Given the description of an element on the screen output the (x, y) to click on. 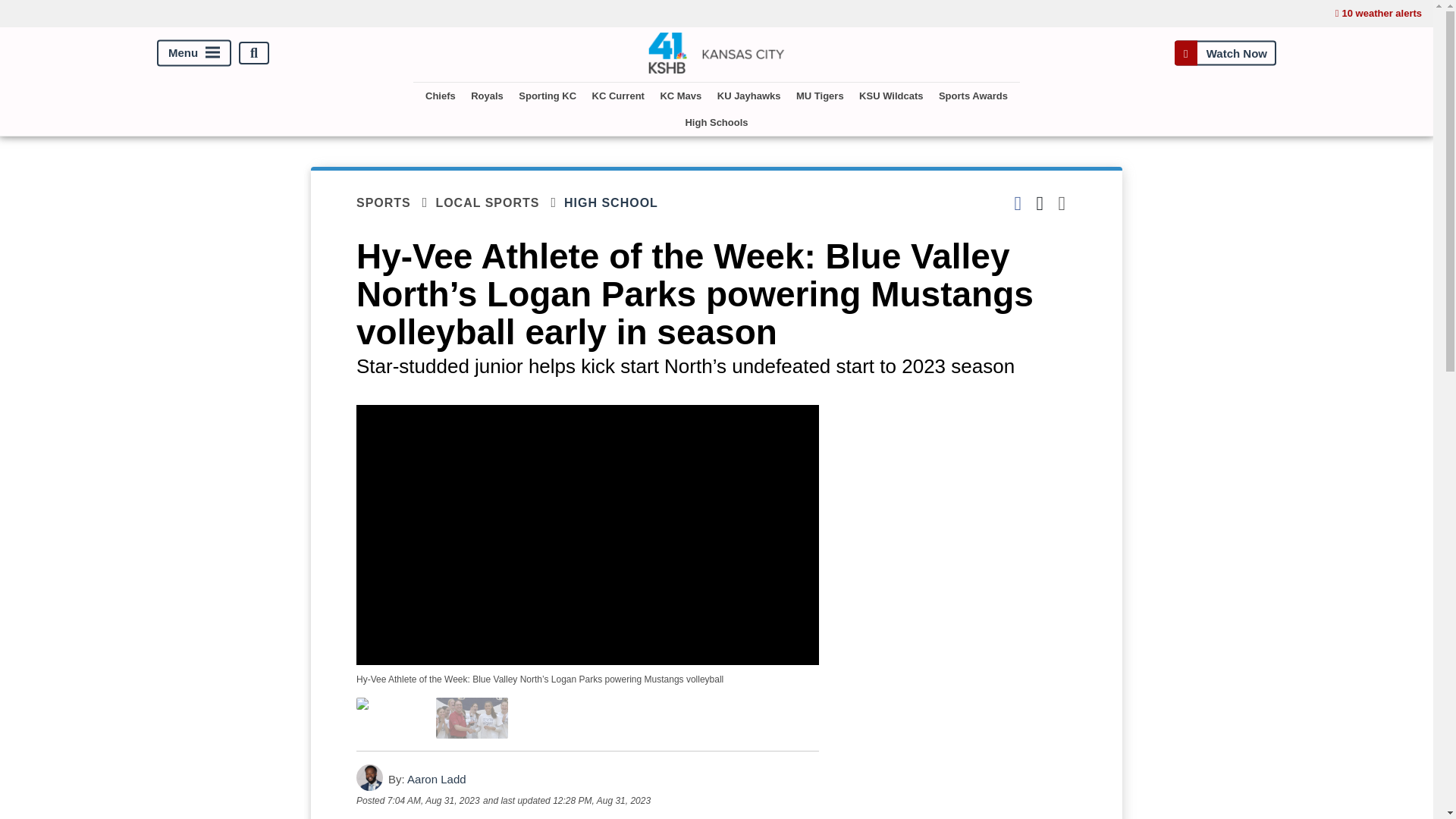
Menu (194, 53)
Watch Now (1224, 52)
